Given the description of an element on the screen output the (x, y) to click on. 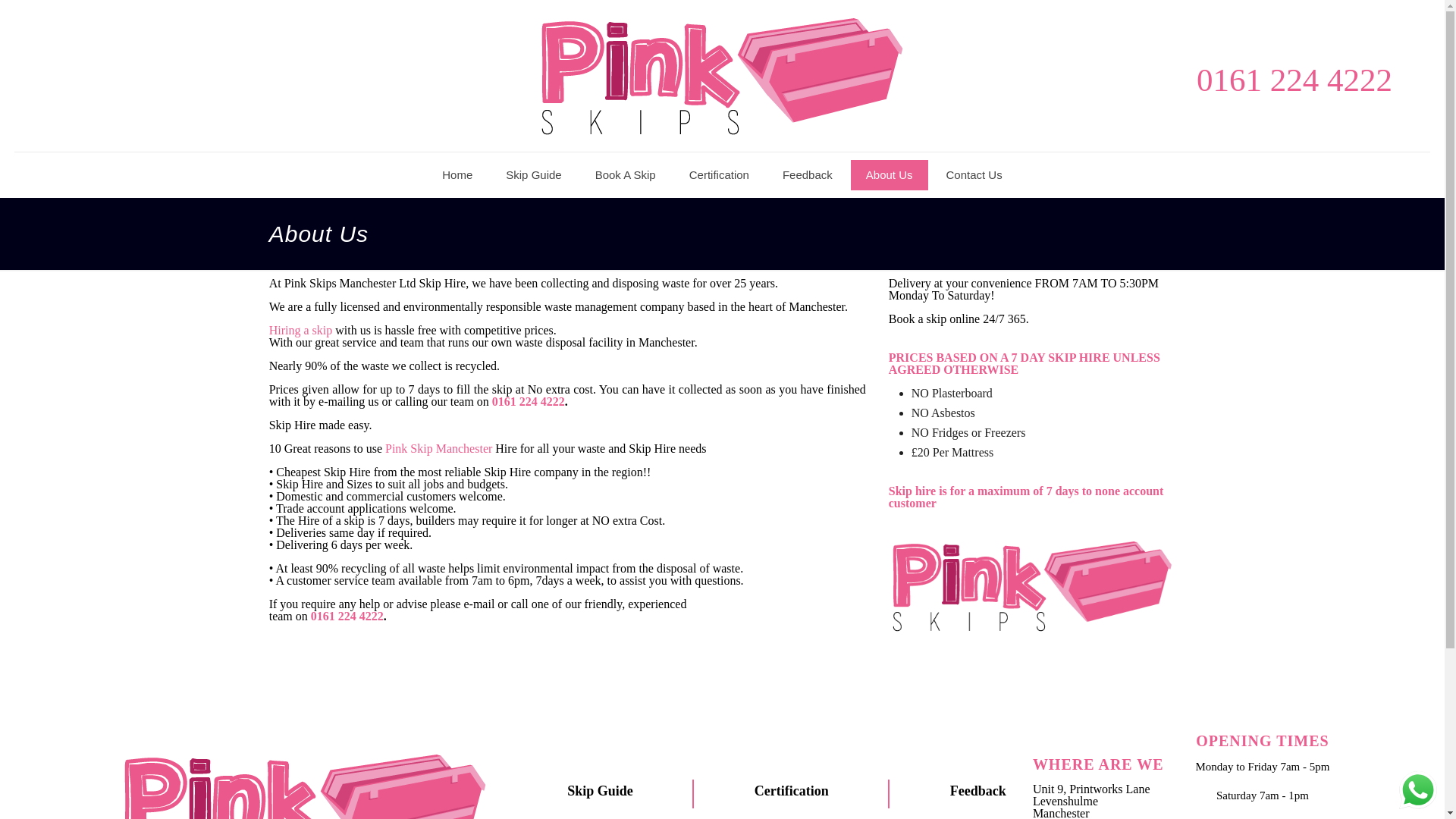
Feedback (807, 174)
Hiring a skip (301, 329)
Feedback (978, 790)
0161 224 4222 (347, 615)
Pink Skip Manchester (438, 448)
Skip Guide (533, 174)
Certification (791, 790)
Skip Guide (600, 790)
Book A Skip (625, 174)
0161 224 4222 (1293, 79)
Contact Us (974, 174)
Home (456, 174)
Pink Skips (721, 75)
About Us (889, 174)
Certification (719, 174)
